Given the description of an element on the screen output the (x, y) to click on. 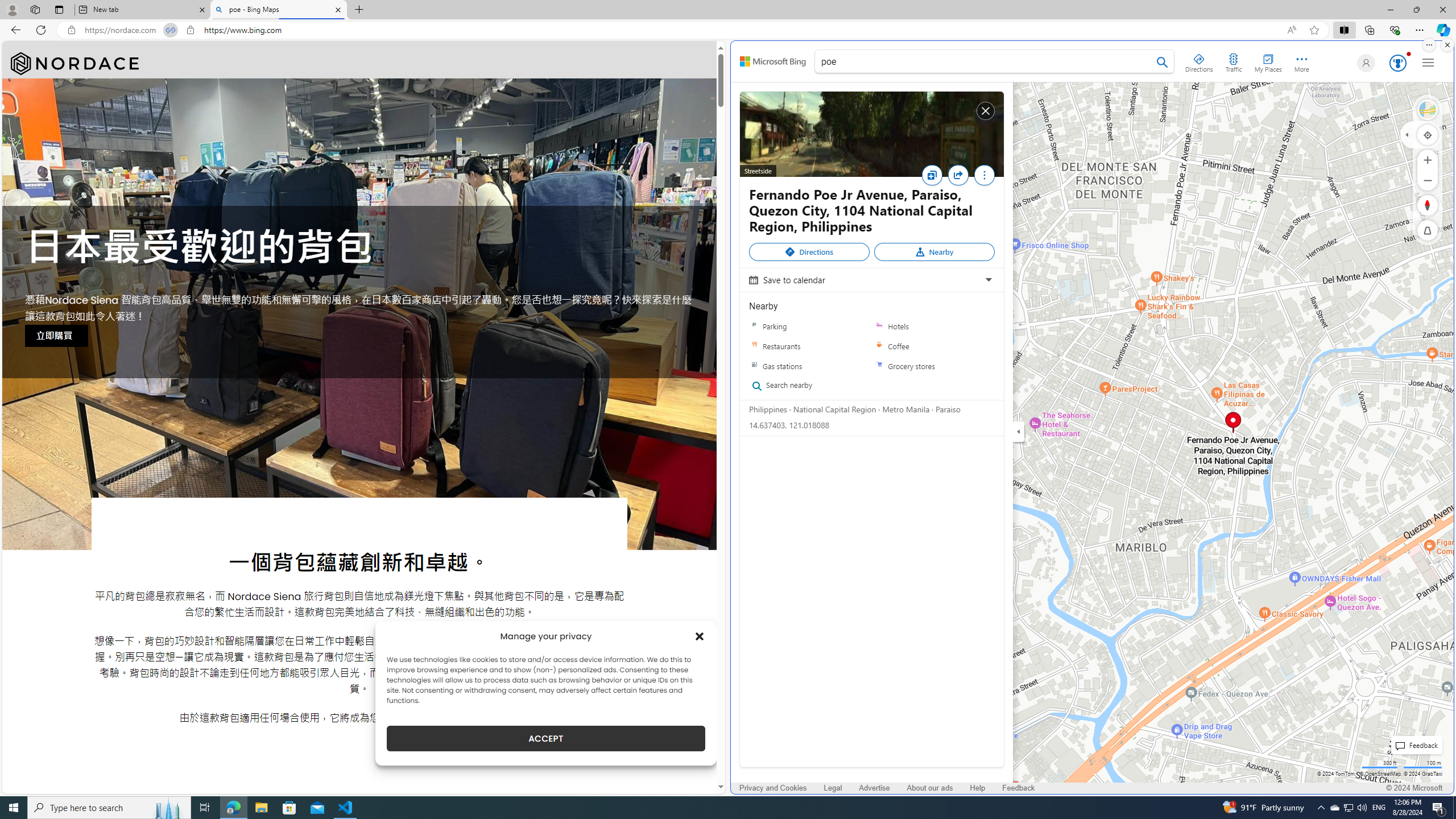
Microsoft Rewards 123 (1396, 63)
Back to Bing search (772, 60)
Locate me (1427, 134)
Streetside (871, 133)
About our ads (930, 787)
ACCEPT (545, 738)
Eugene (1363, 62)
Gas stations (754, 365)
Help (977, 787)
